Given the description of an element on the screen output the (x, y) to click on. 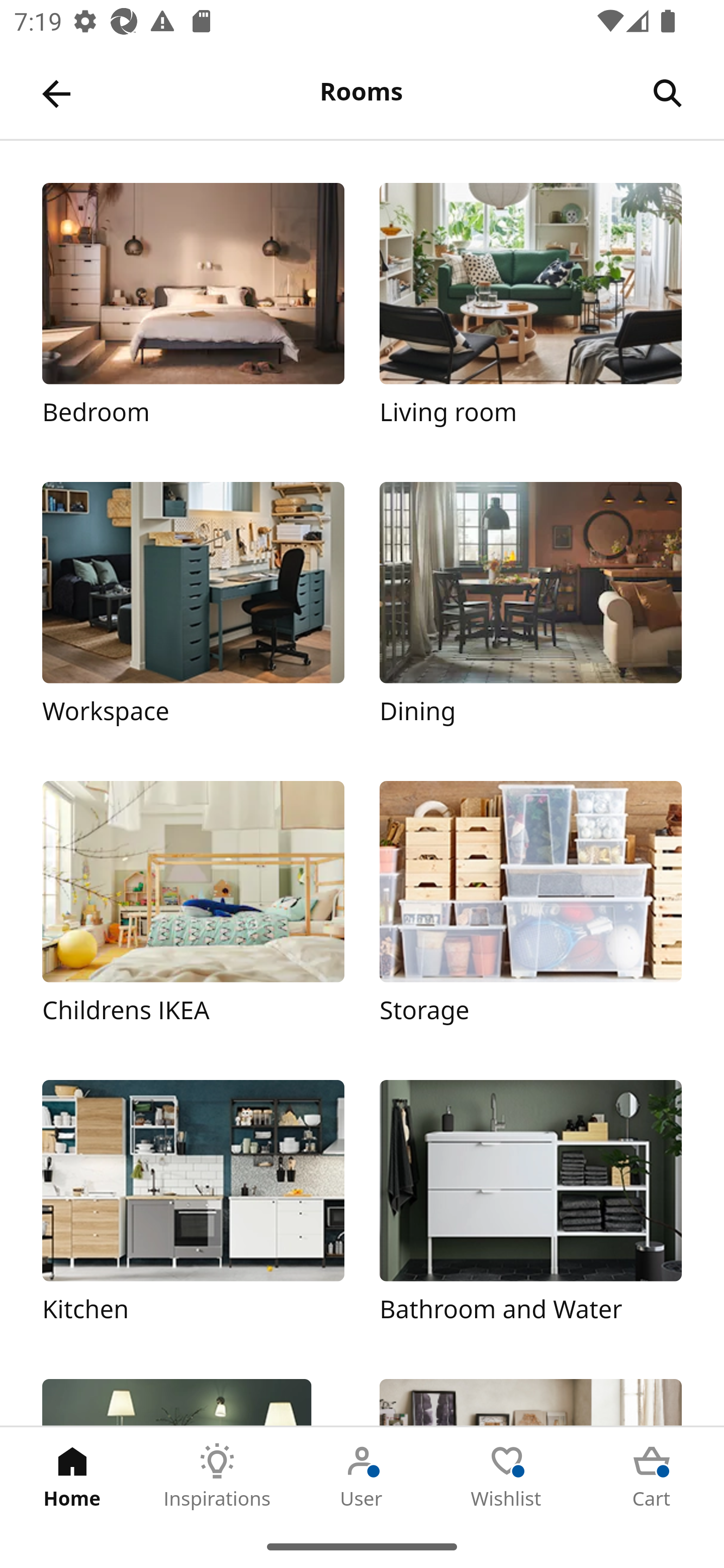
Bedroom (192, 314)
Living room (530, 314)
Workspace (192, 613)
Dining (530, 613)
Childrens IKEA (192, 912)
Storage (530, 912)
Kitchen (192, 1211)
Bathroom and Water (530, 1211)
Home
Tab 1 of 5 (72, 1476)
Inspirations
Tab 2 of 5 (216, 1476)
User
Tab 3 of 5 (361, 1476)
Wishlist
Tab 4 of 5 (506, 1476)
Cart
Tab 5 of 5 (651, 1476)
